Given the description of an element on the screen output the (x, y) to click on. 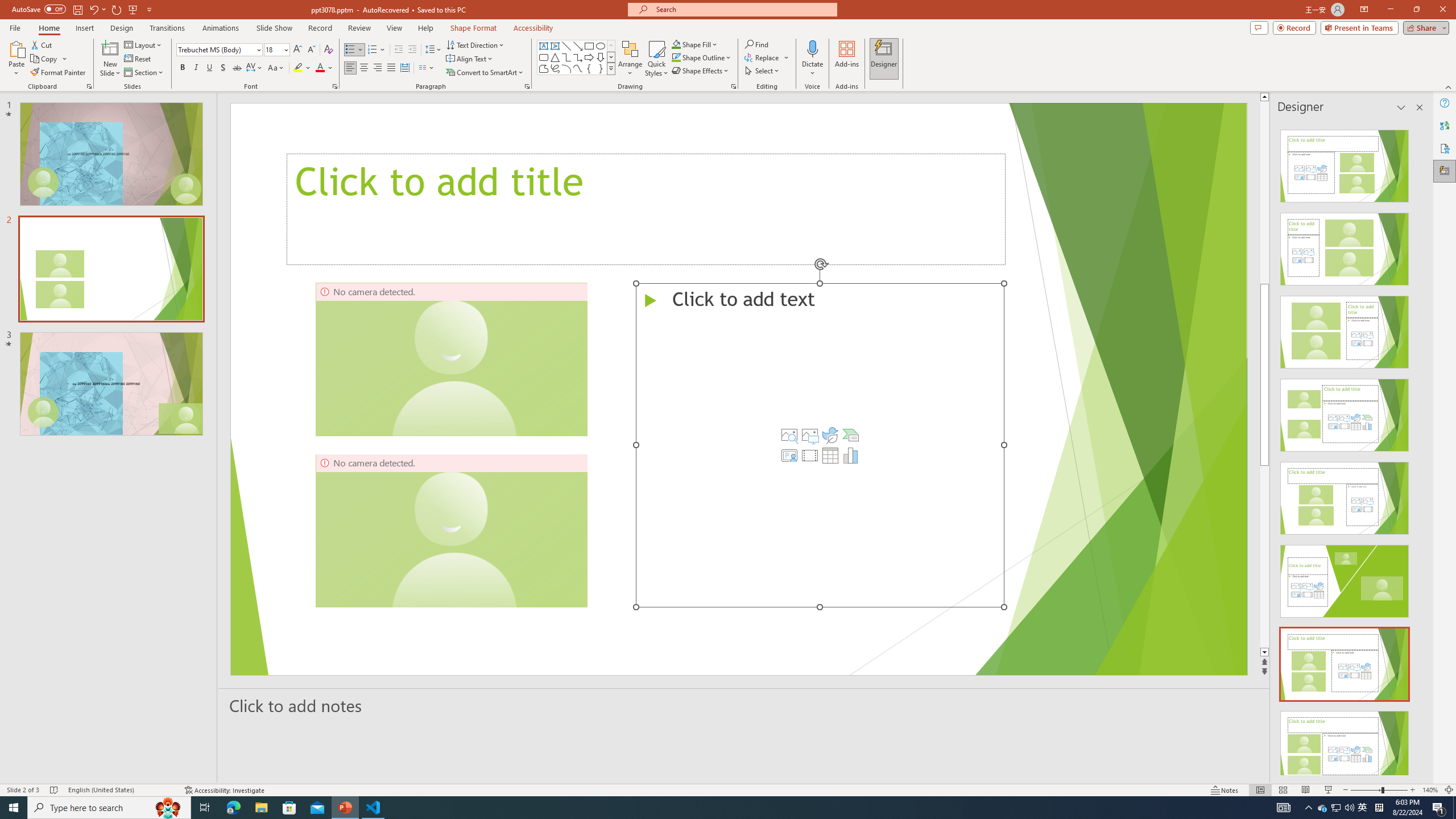
Insert a SmartArt Graphic (850, 434)
Recommended Design: Design Idea (1344, 162)
Camera 3, No camera detected. (838, 530)
